Given the description of an element on the screen output the (x, y) to click on. 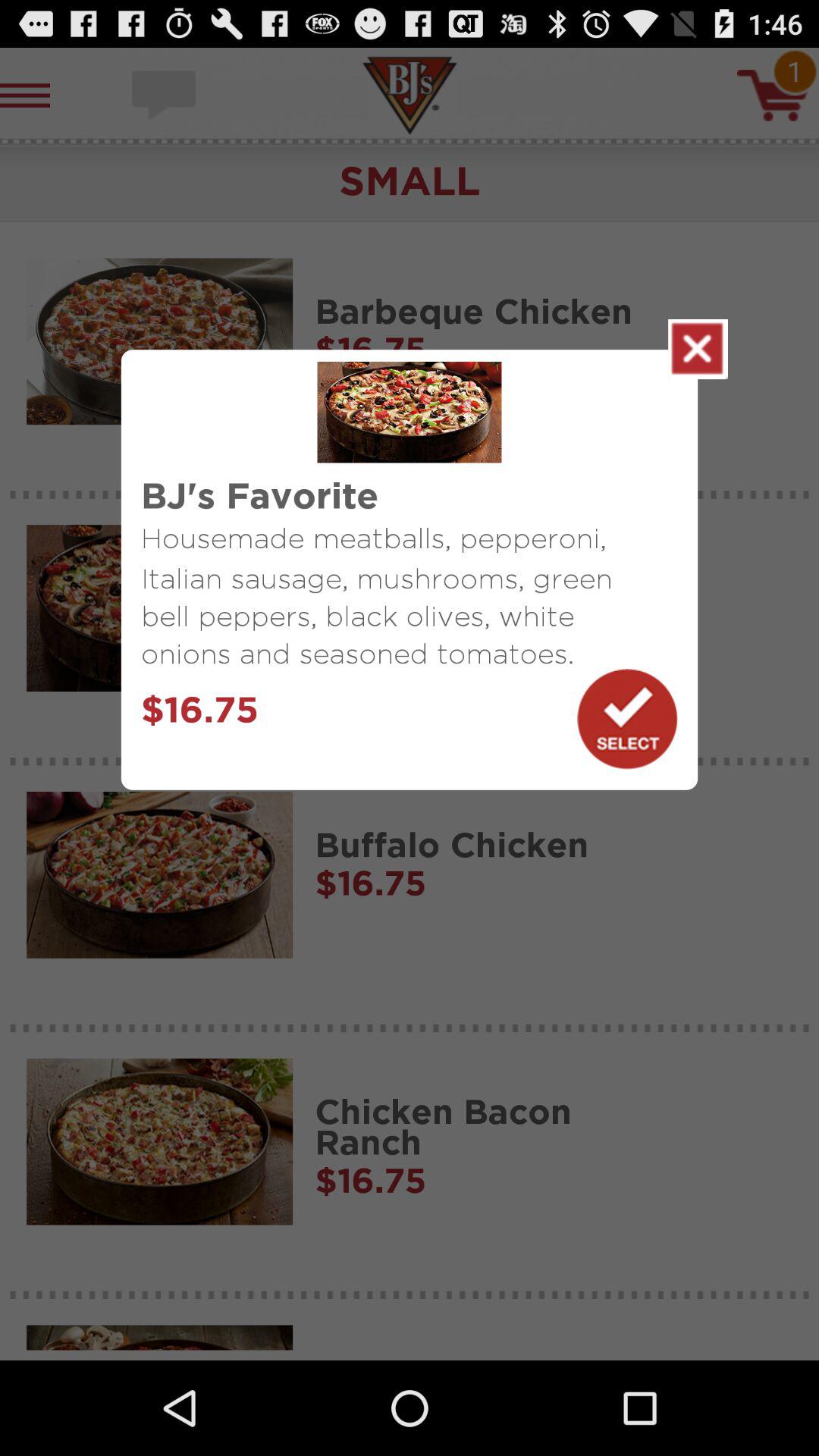
launch icon at the top right corner (698, 349)
